Given the description of an element on the screen output the (x, y) to click on. 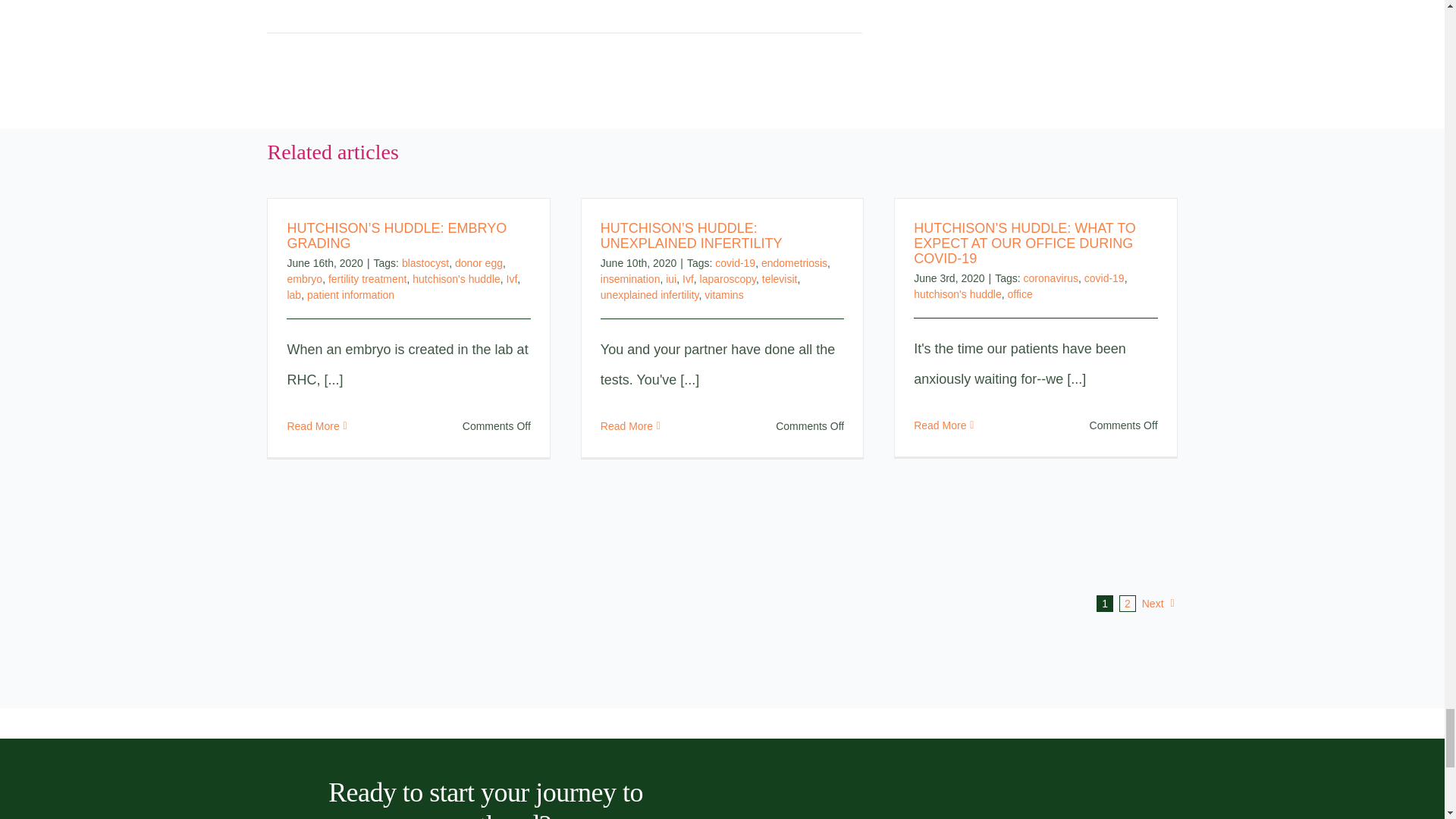
Pinterest (802, 2)
Vk (826, 2)
Twitter (751, 2)
Facebook (726, 2)
LinkedIn (777, 2)
